Given the description of an element on the screen output the (x, y) to click on. 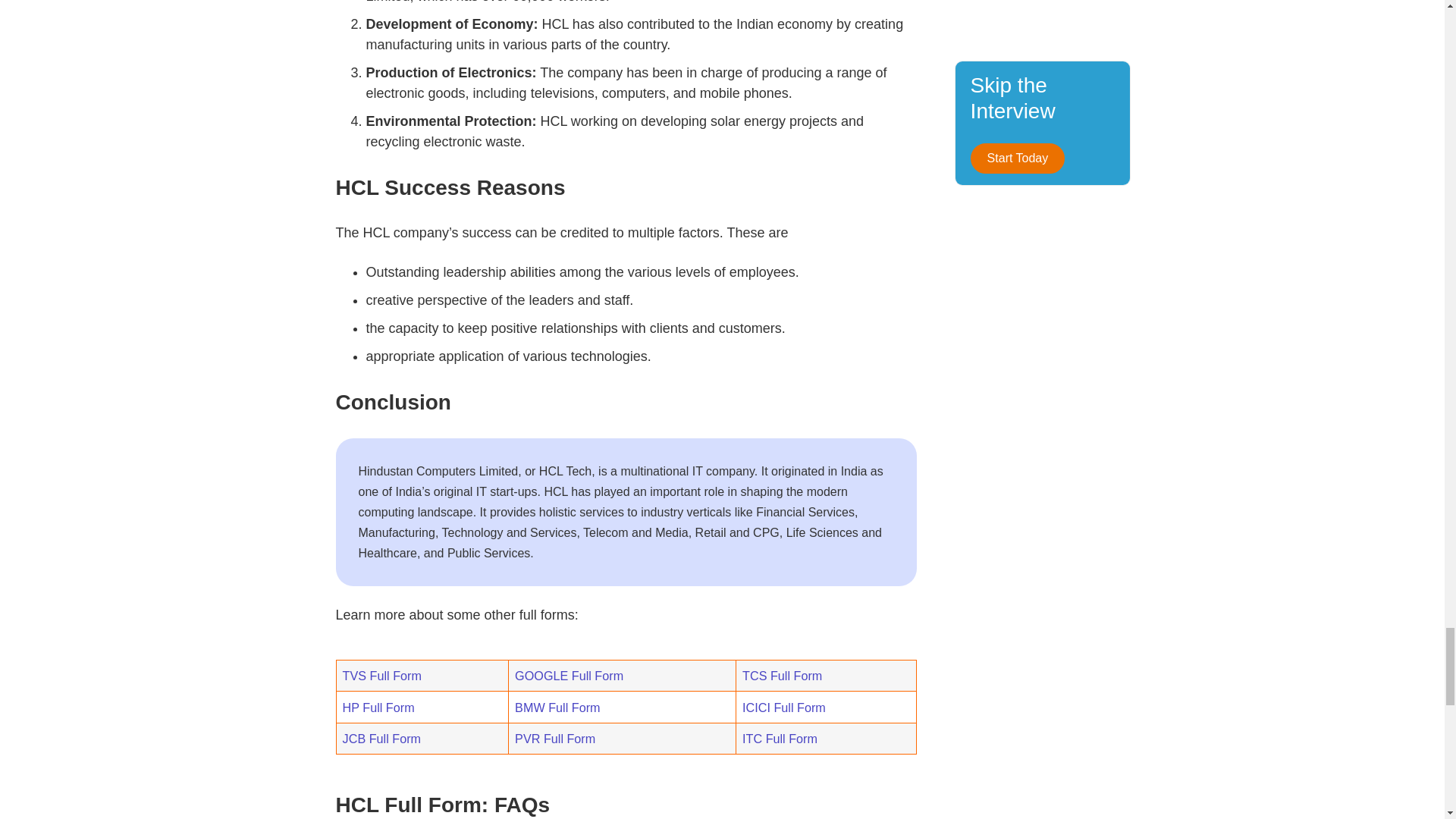
TVS Full Form (382, 675)
HP Full Form (378, 707)
GOOGLE Full Form (569, 675)
TCS Full Form (782, 675)
